Given the description of an element on the screen output the (x, y) to click on. 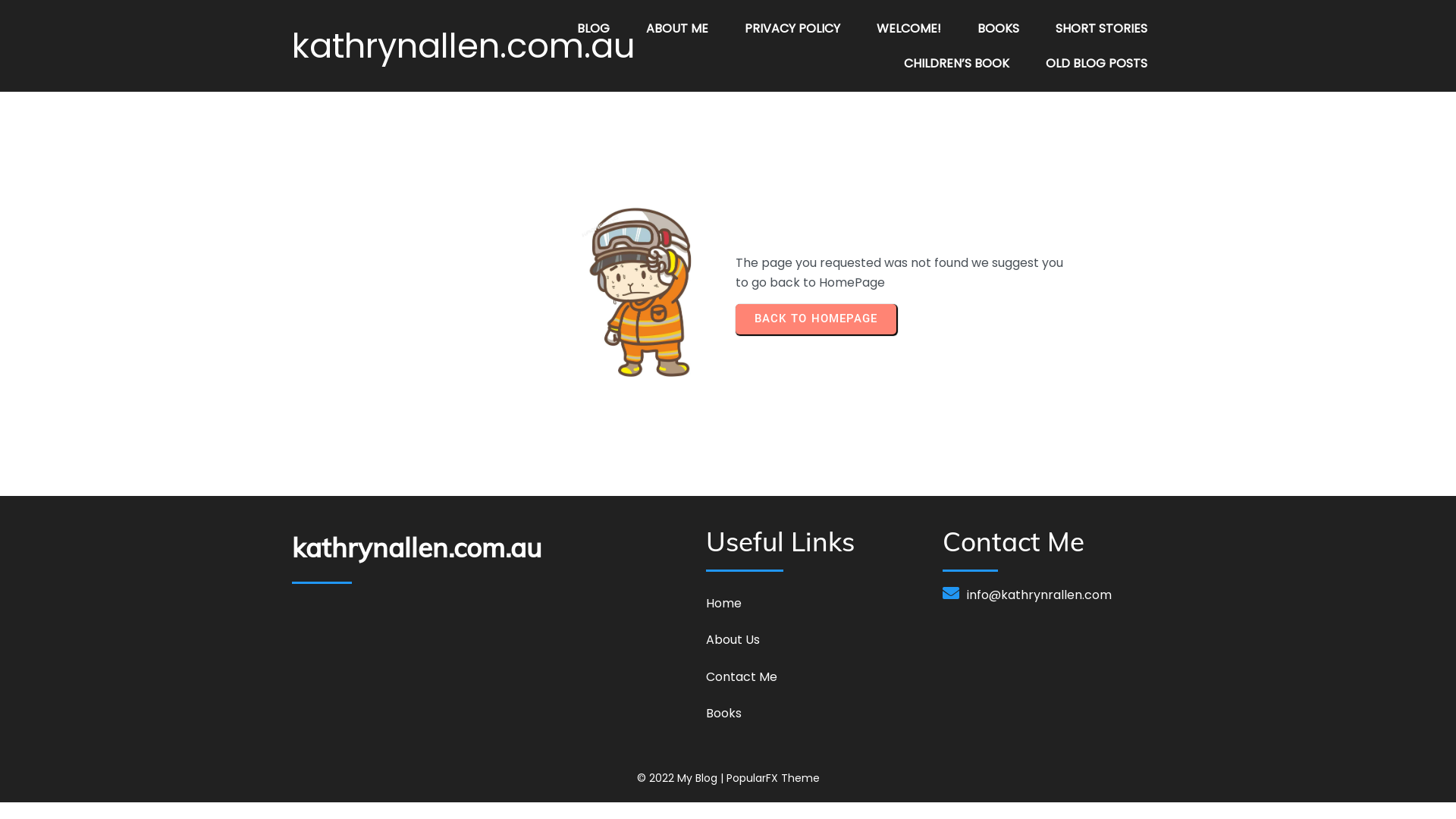
OLD BLOG POSTS Element type: text (1096, 63)
BACK TO HOMEPAGE Element type: text (815, 319)
PRIVACY POLICY Element type: text (792, 28)
ABOUT ME Element type: text (676, 28)
WELCOME! Element type: text (908, 28)
BLOG Element type: text (593, 28)
SHORT STORIES Element type: text (1101, 28)
BOOKS Element type: text (997, 28)
PopularFX Theme Element type: text (772, 777)
kathrynallen.com.au Element type: text (416, 45)
kathrynallen.com.au Element type: text (490, 547)
